Given the description of an element on the screen output the (x, y) to click on. 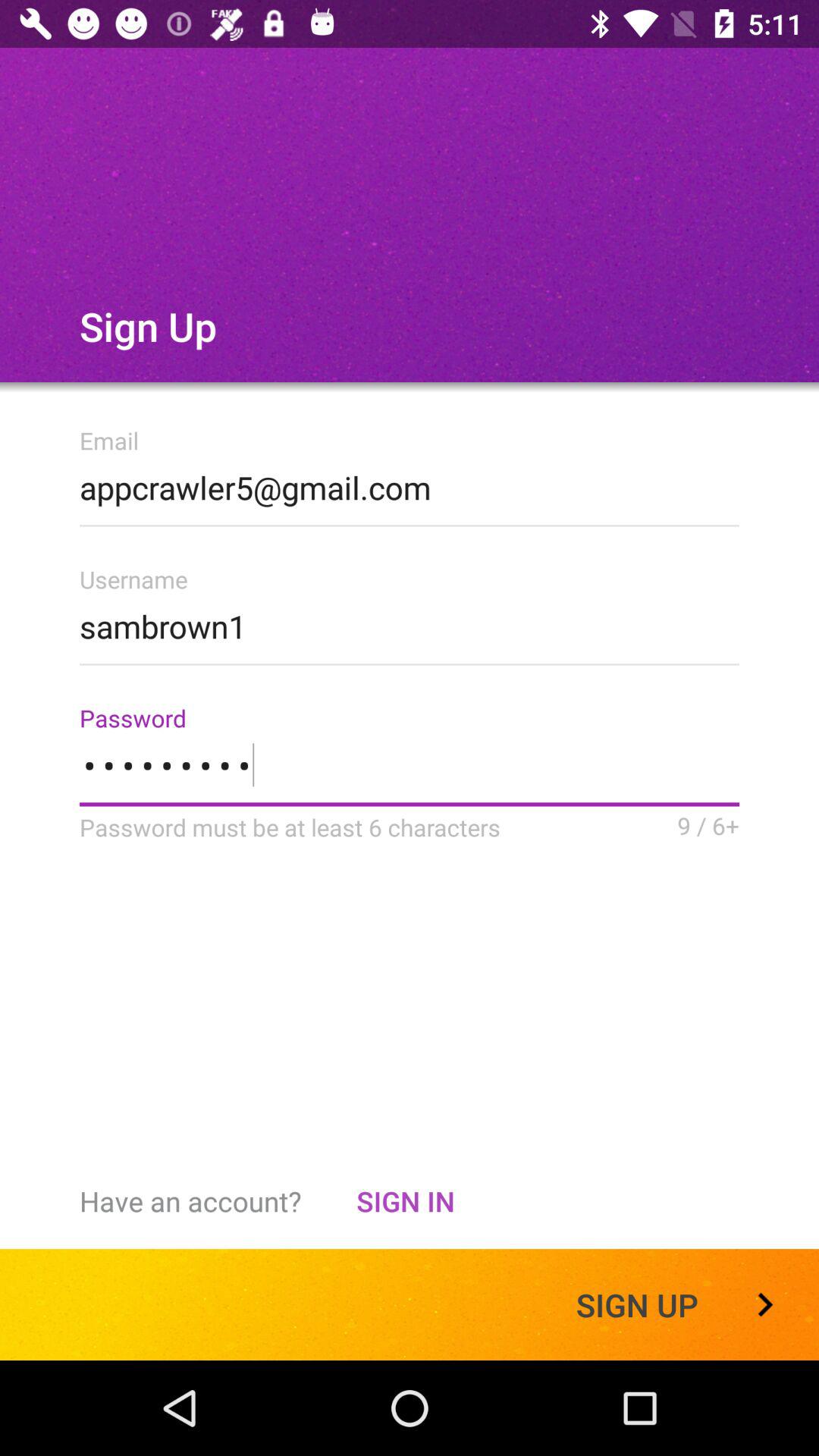
press the icon above crowd3116 icon (409, 621)
